Given the description of an element on the screen output the (x, y) to click on. 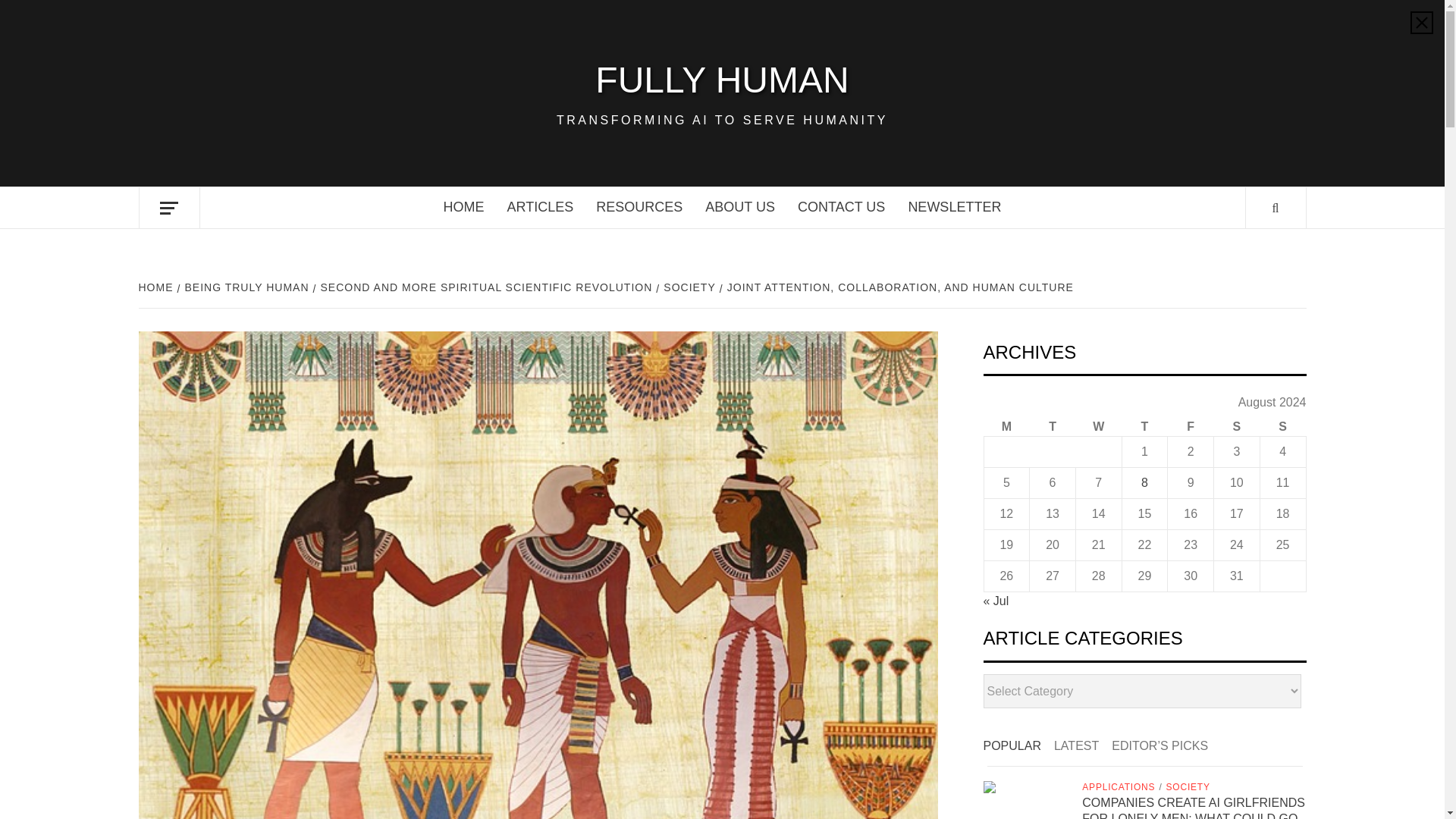
RESOURCES (639, 207)
HOME (157, 287)
SOCIETY (687, 287)
ABOUT US (740, 207)
Friday (1190, 426)
JOINT ATTENTION, COLLABORATION, AND HUMAN CULTURE (898, 287)
CONTACT US (841, 207)
Thursday (1144, 426)
Sunday (1282, 426)
